Given the description of an element on the screen output the (x, y) to click on. 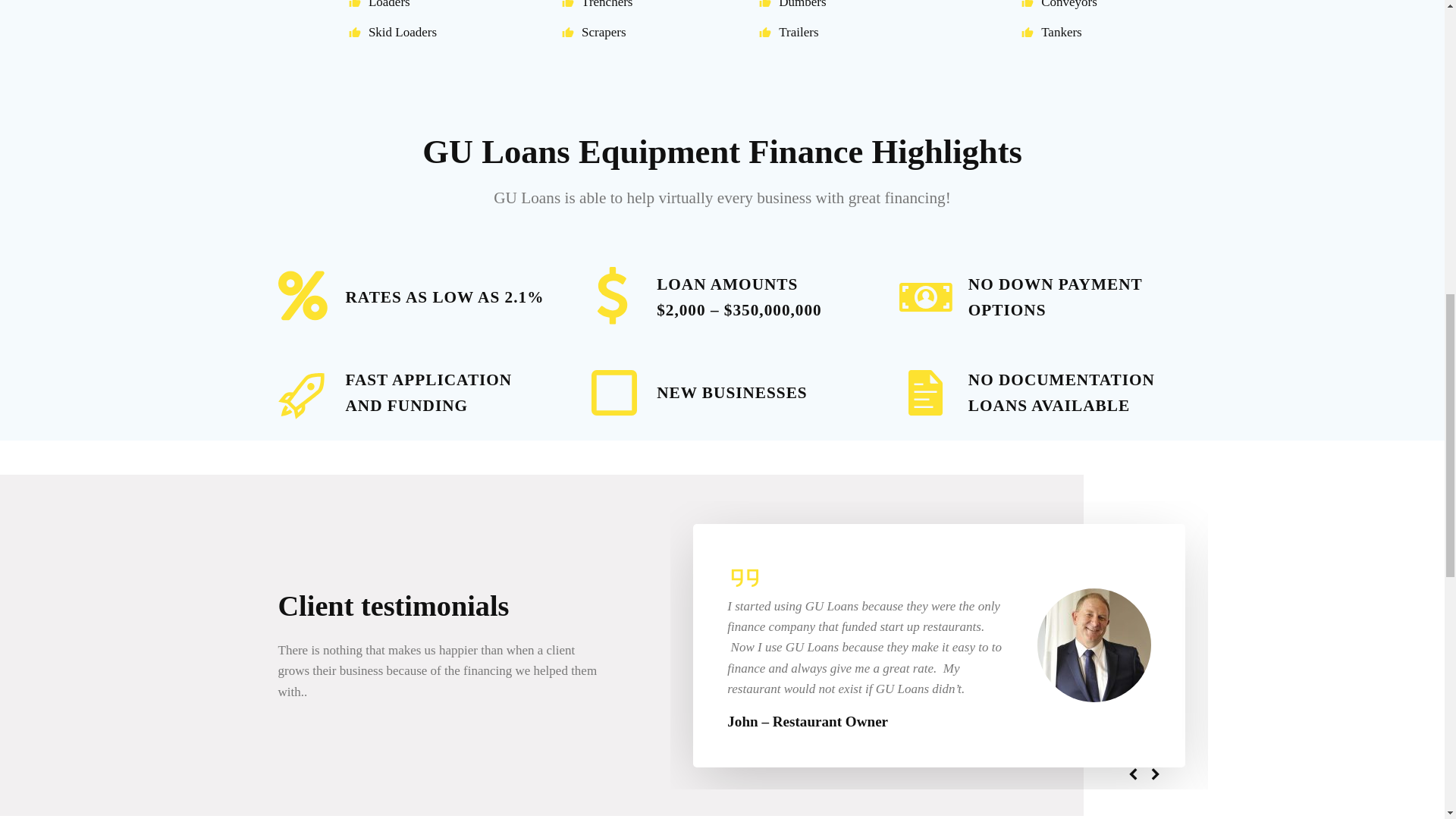
Tankers (1055, 32)
Skid Loaders (388, 32)
Conveyors (1055, 4)
Scrapers (611, 32)
Trenchers (611, 4)
Trailers (832, 32)
Loaders (388, 4)
Dumbers (832, 4)
